Given the description of an element on the screen output the (x, y) to click on. 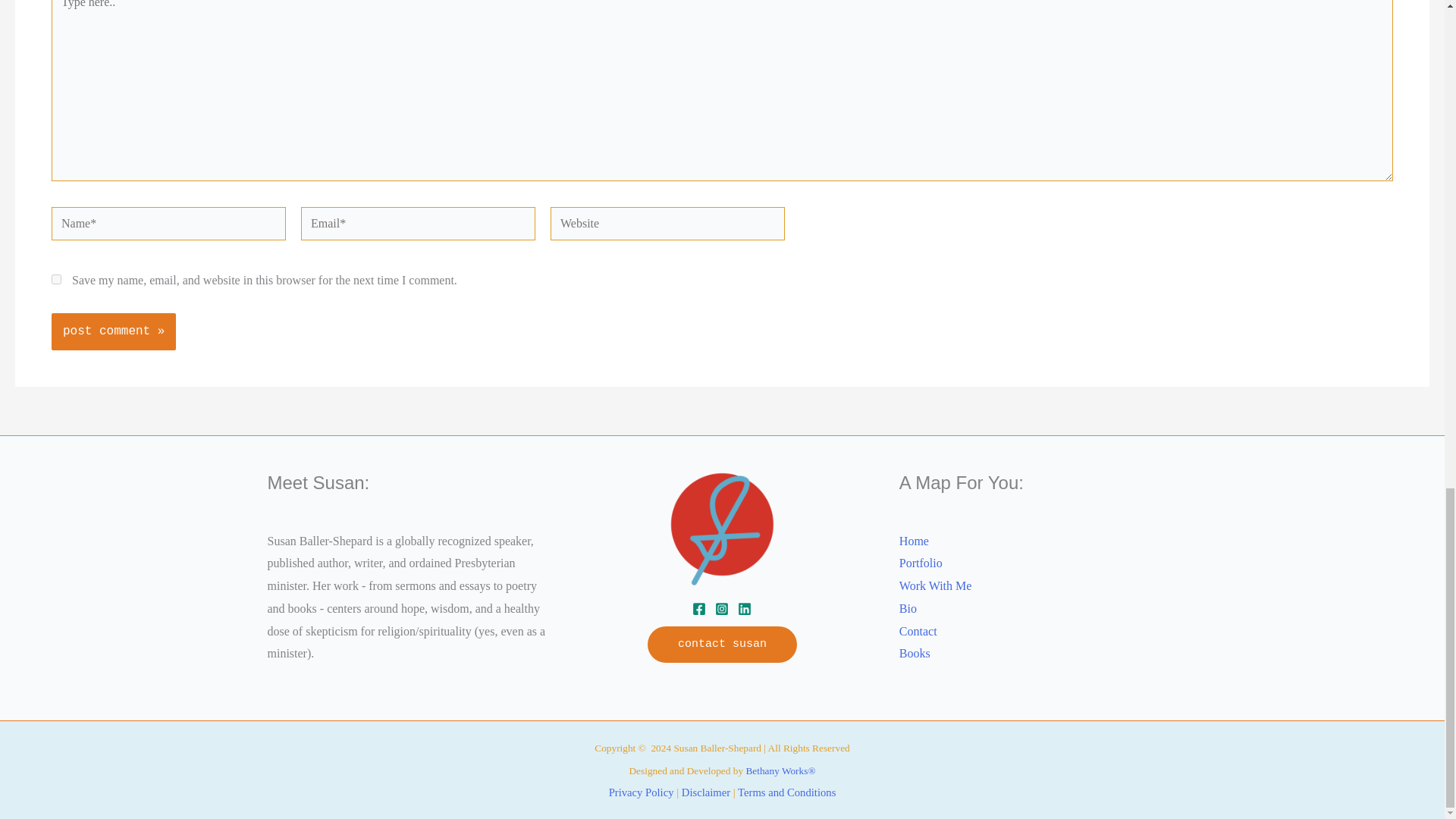
yes (55, 279)
Books (914, 653)
Work With Me (935, 585)
Portfolio (920, 563)
contact susan (721, 644)
Home (913, 540)
Contact (918, 630)
